Given the description of an element on the screen output the (x, y) to click on. 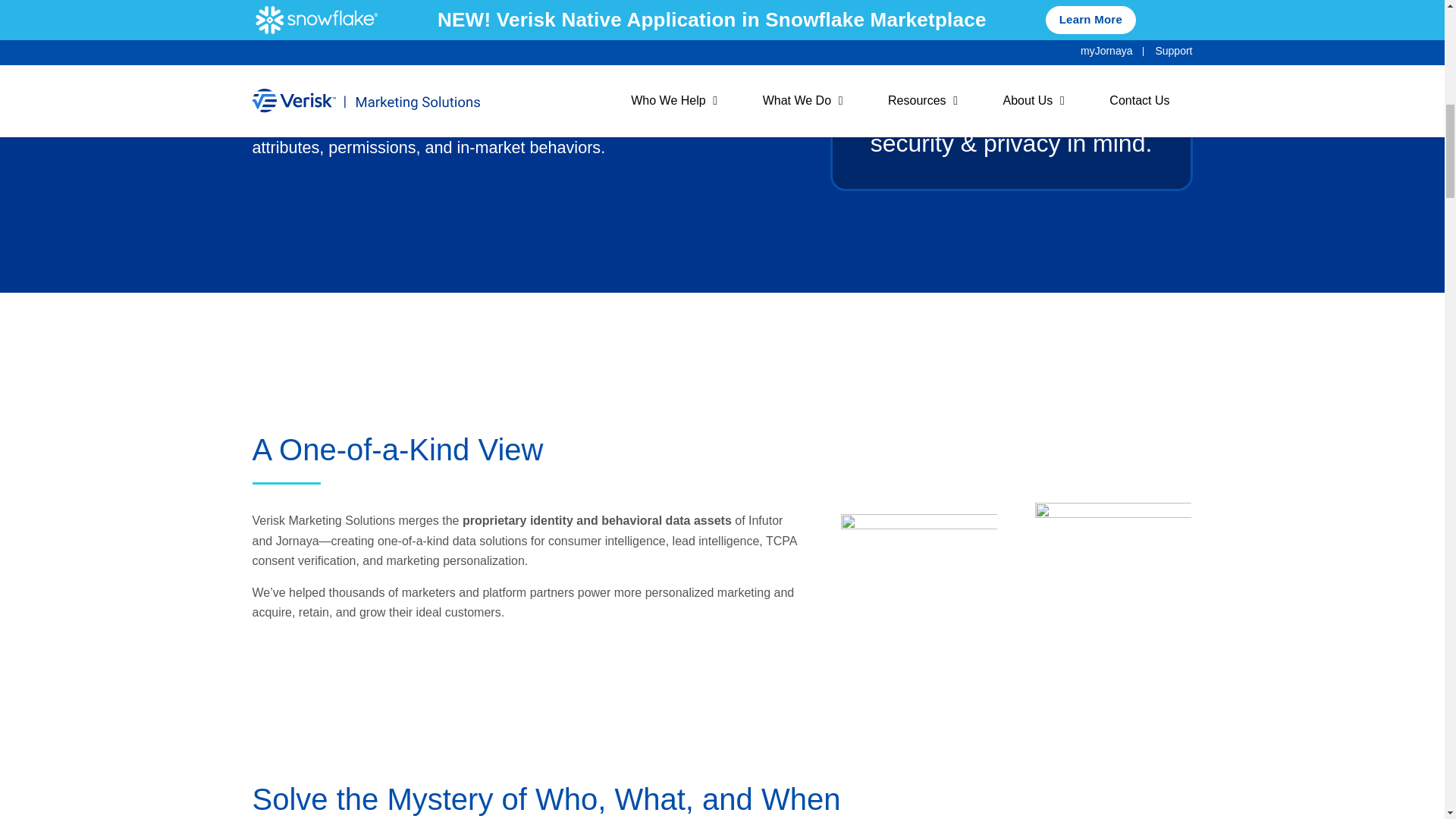
jornaya-logo (919, 528)
infutor-logo (1113, 522)
